Given the description of an element on the screen output the (x, y) to click on. 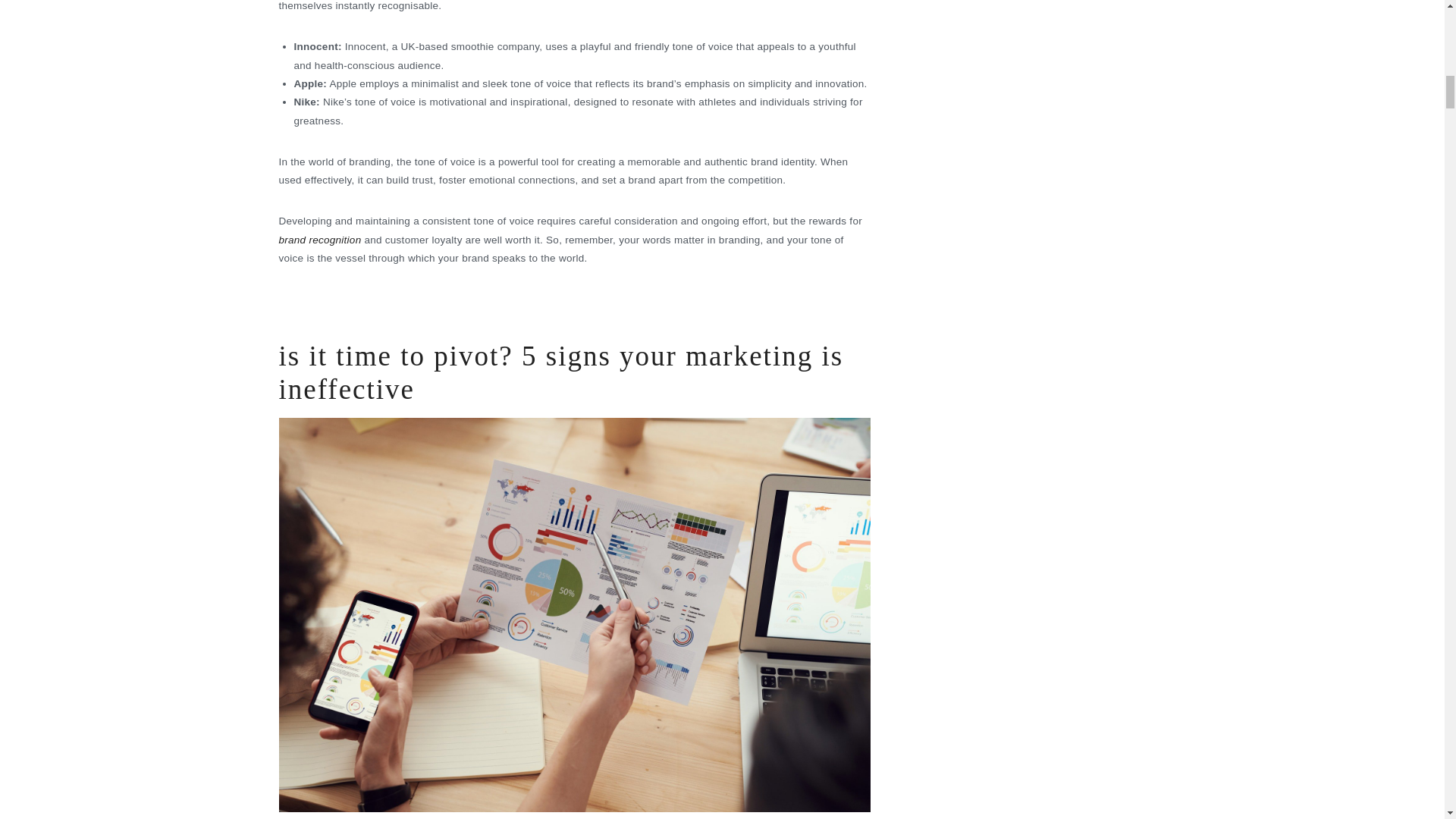
brand recognition (320, 239)
is it time to pivot? 5 signs your marketing is ineffective (561, 372)
